Given the description of an element on the screen output the (x, y) to click on. 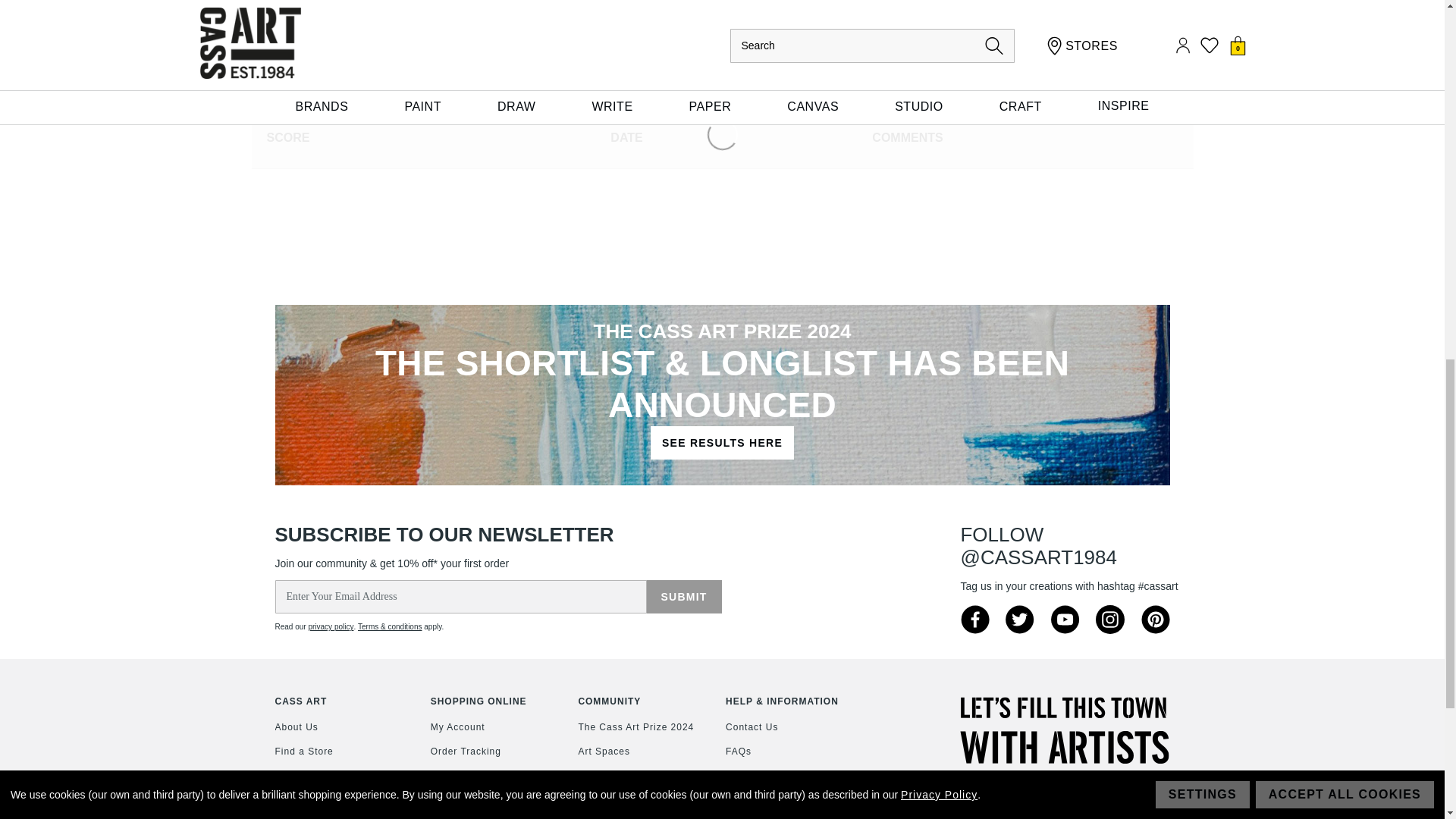
Submit (683, 596)
